Given the description of an element on the screen output the (x, y) to click on. 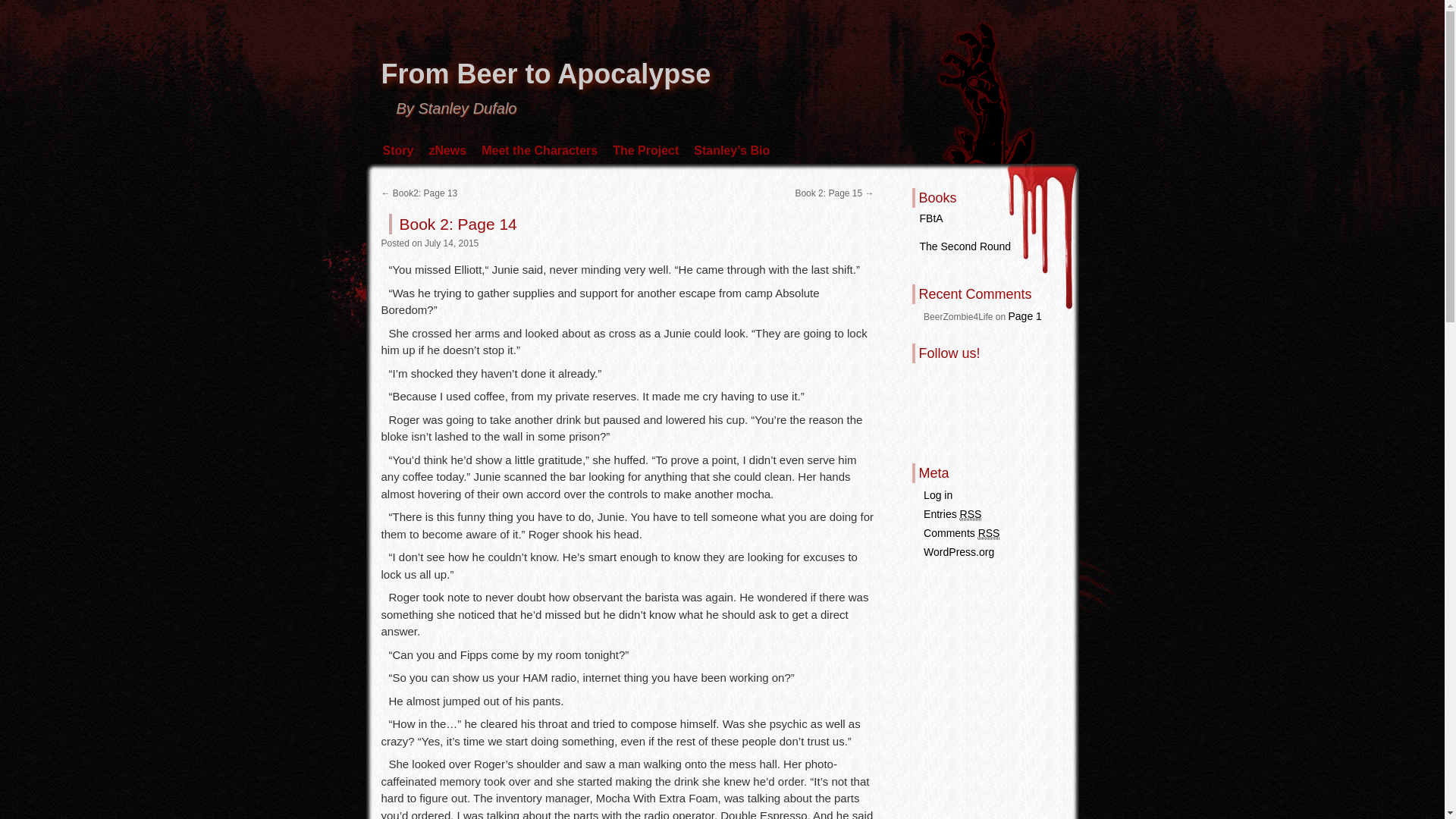
The Second Round (964, 246)
From Beer to Apocalypse (545, 73)
zNews (447, 150)
The Project (645, 150)
July 14, 2015 (452, 243)
Story (397, 150)
Entries RSS (952, 513)
Page 1 (1025, 316)
WordPress.org (958, 551)
Really Simple Syndication (970, 513)
From Beer to Apocalypse (545, 73)
Meet the Characters (539, 150)
12:05 am (452, 243)
Comments RSS (960, 533)
Log in (937, 494)
